Given the description of an element on the screen output the (x, y) to click on. 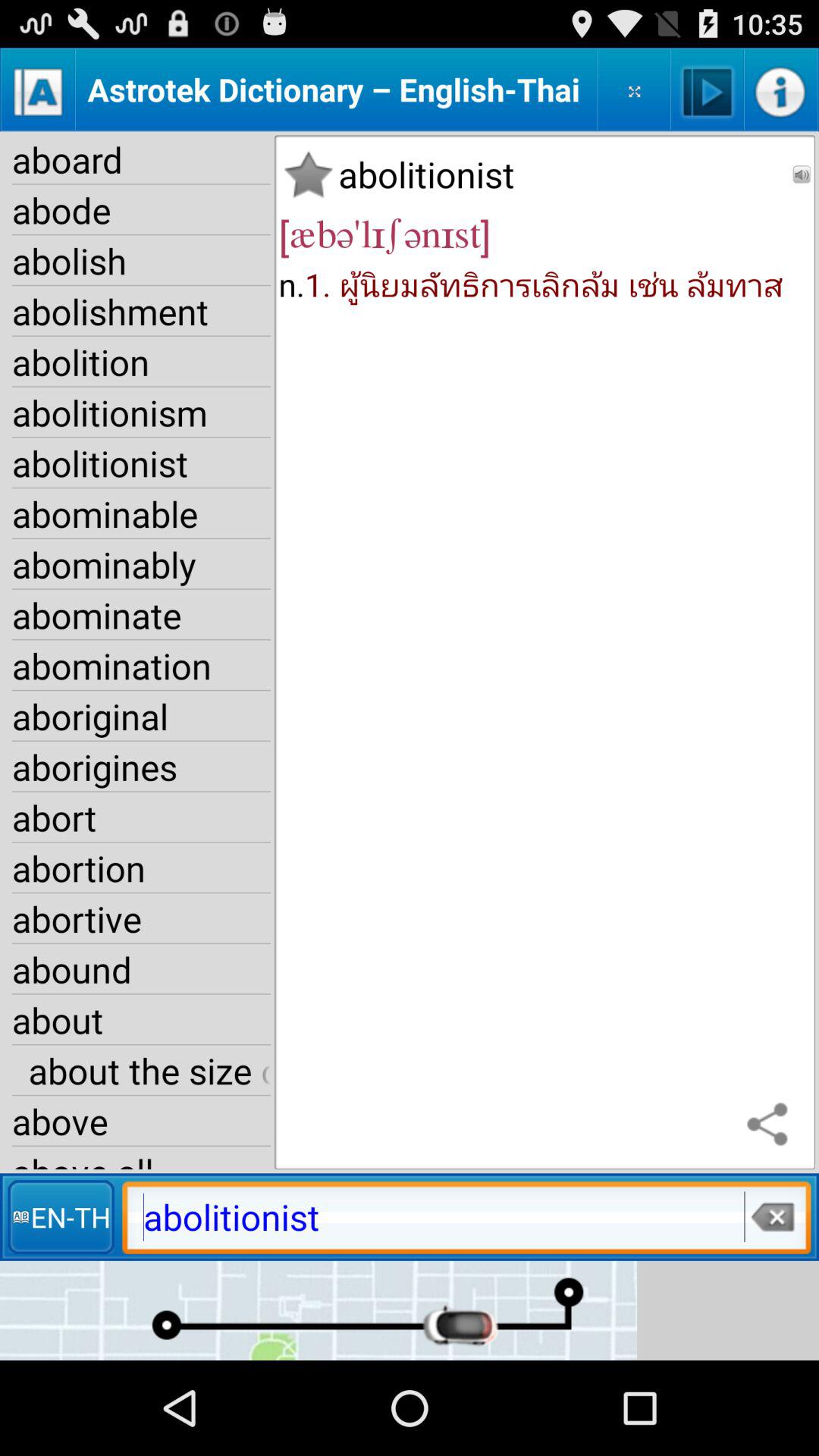
click icon to the right of the aboard icon (308, 174)
